Given the description of an element on the screen output the (x, y) to click on. 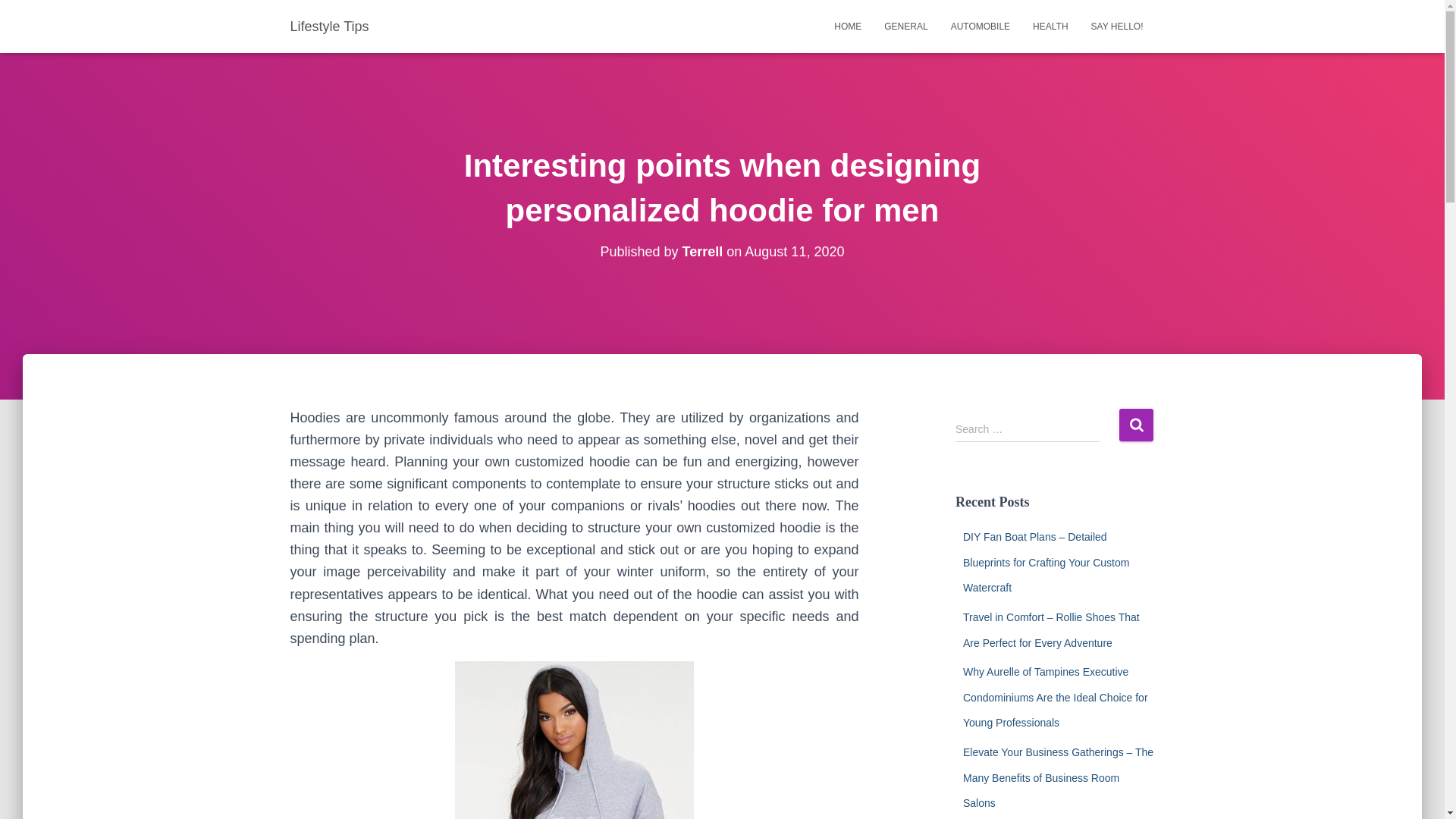
Health (1050, 26)
HOME (847, 26)
Terrell (702, 251)
Search (1136, 424)
General (905, 26)
AUTOMOBILE (980, 26)
Search (1136, 424)
SAY HELLO! (1117, 26)
Say Hello! (1117, 26)
Automobile (980, 26)
